Given the description of an element on the screen output the (x, y) to click on. 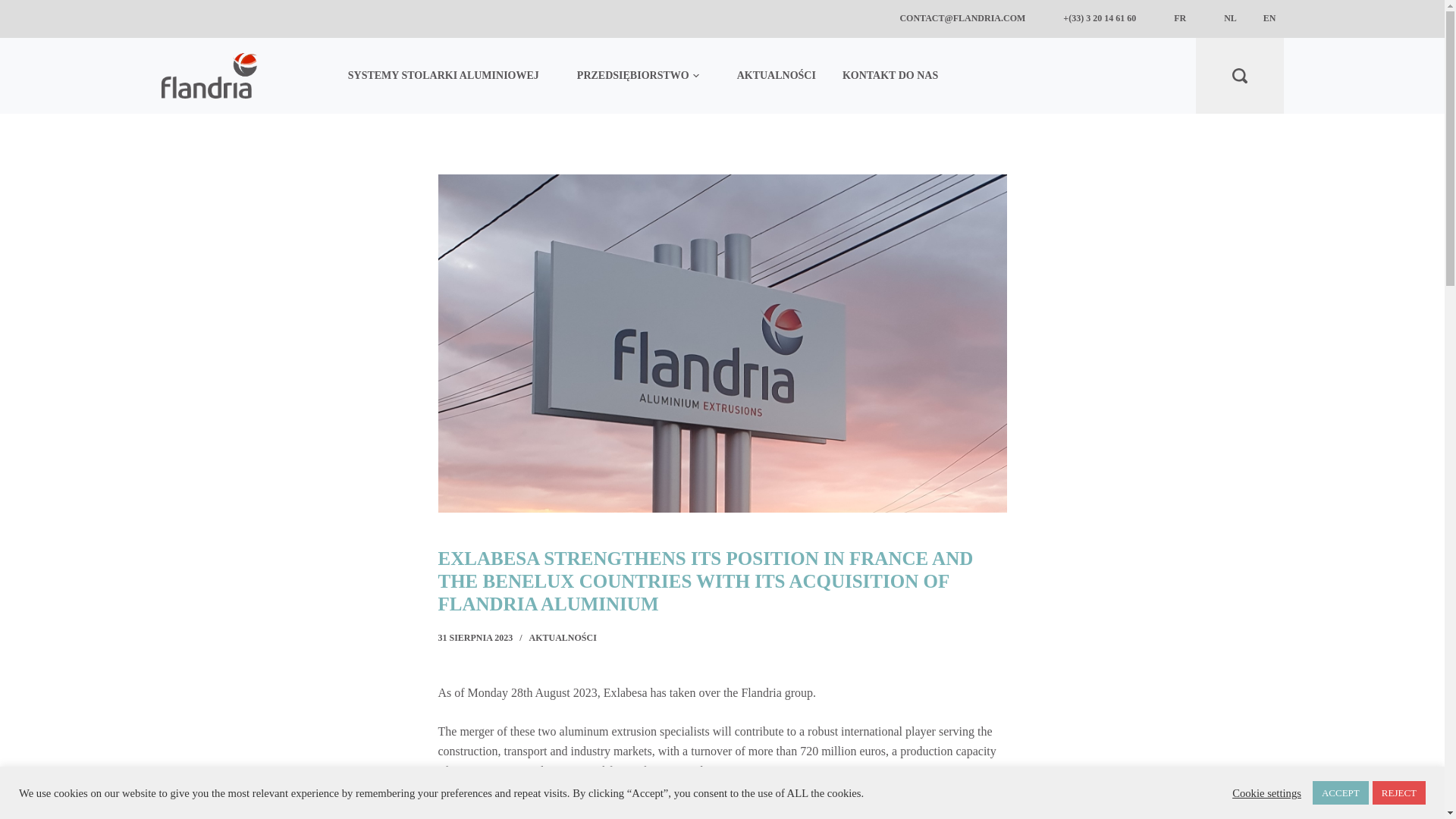
SYSTEMY STOLARKI ALUMINIOWEJ (452, 75)
NL (1230, 18)
KONTAKT DO NAS (889, 75)
FR (1179, 18)
